Given the description of an element on the screen output the (x, y) to click on. 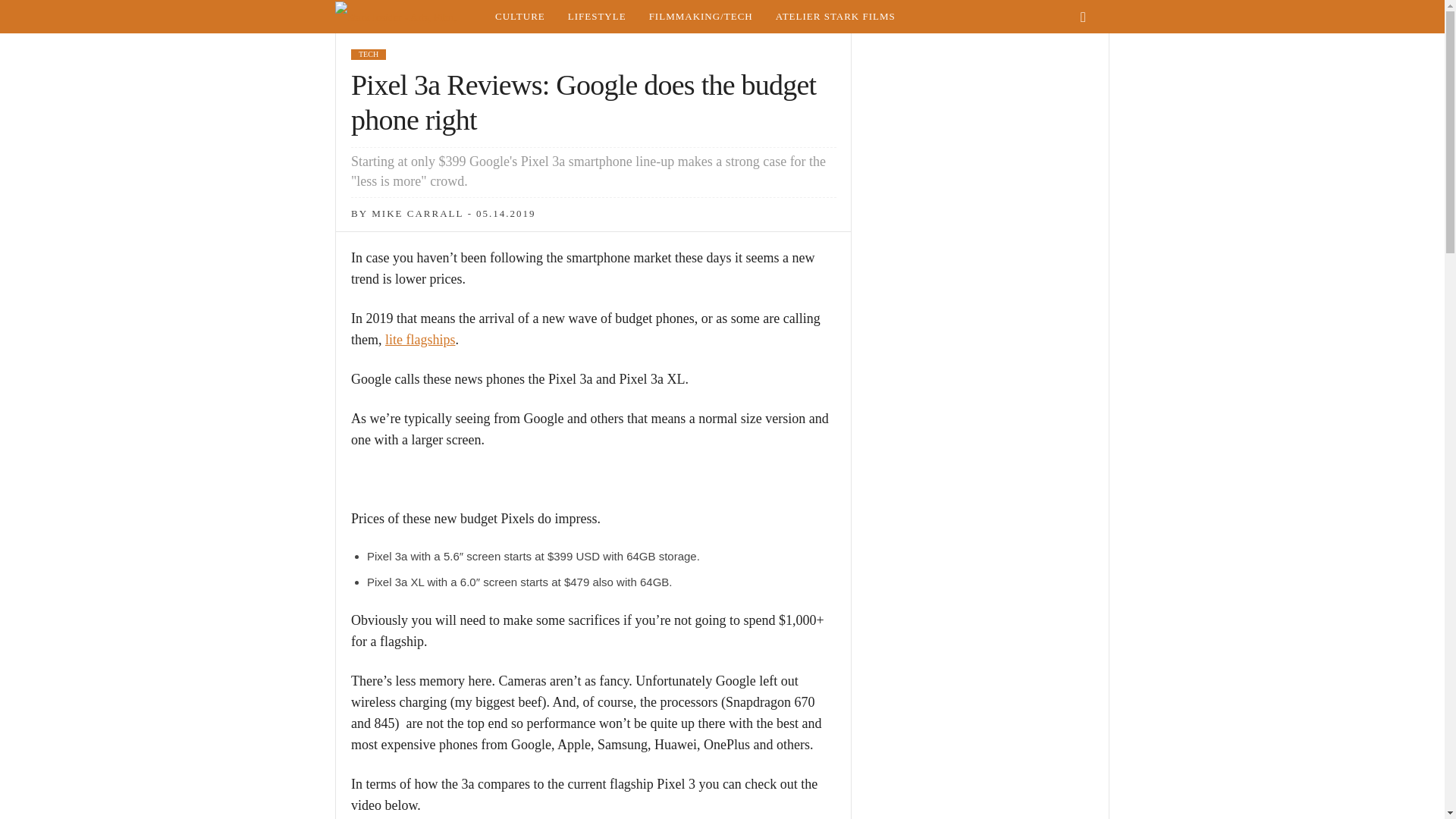
lite flagships (420, 339)
MIKE CARRALL (417, 213)
Tech, gadgets, camera news and reviews from Silicon Valley (700, 16)
Stark Insider (408, 16)
LIFESTYLE (596, 16)
CULTURE (519, 16)
TECH (367, 54)
Indie film, music, arts in San Francisco and Silicon Valley (519, 16)
ATELIER STARK FILMS (835, 16)
